Given the description of an element on the screen output the (x, y) to click on. 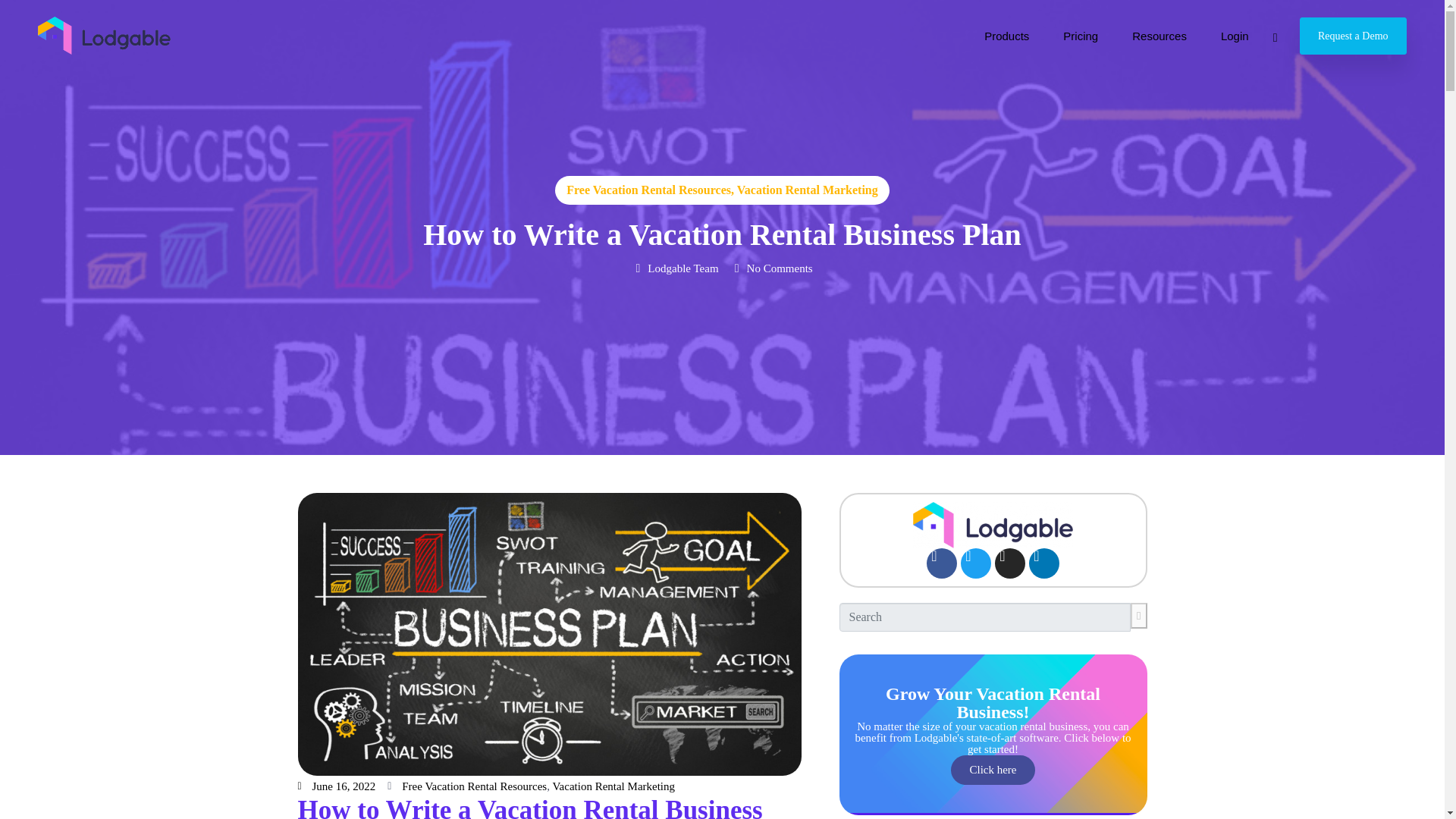
No Comments (771, 268)
Pricing (1079, 34)
Resources (1159, 34)
Vacation Rental Marketing (613, 786)
Lodgable Team (674, 268)
Click here (991, 769)
Free Vacation Rental Resources (474, 786)
Products (1006, 34)
Vacation Rental Marketing (806, 189)
June 16, 2022 (336, 785)
